Given the description of an element on the screen output the (x, y) to click on. 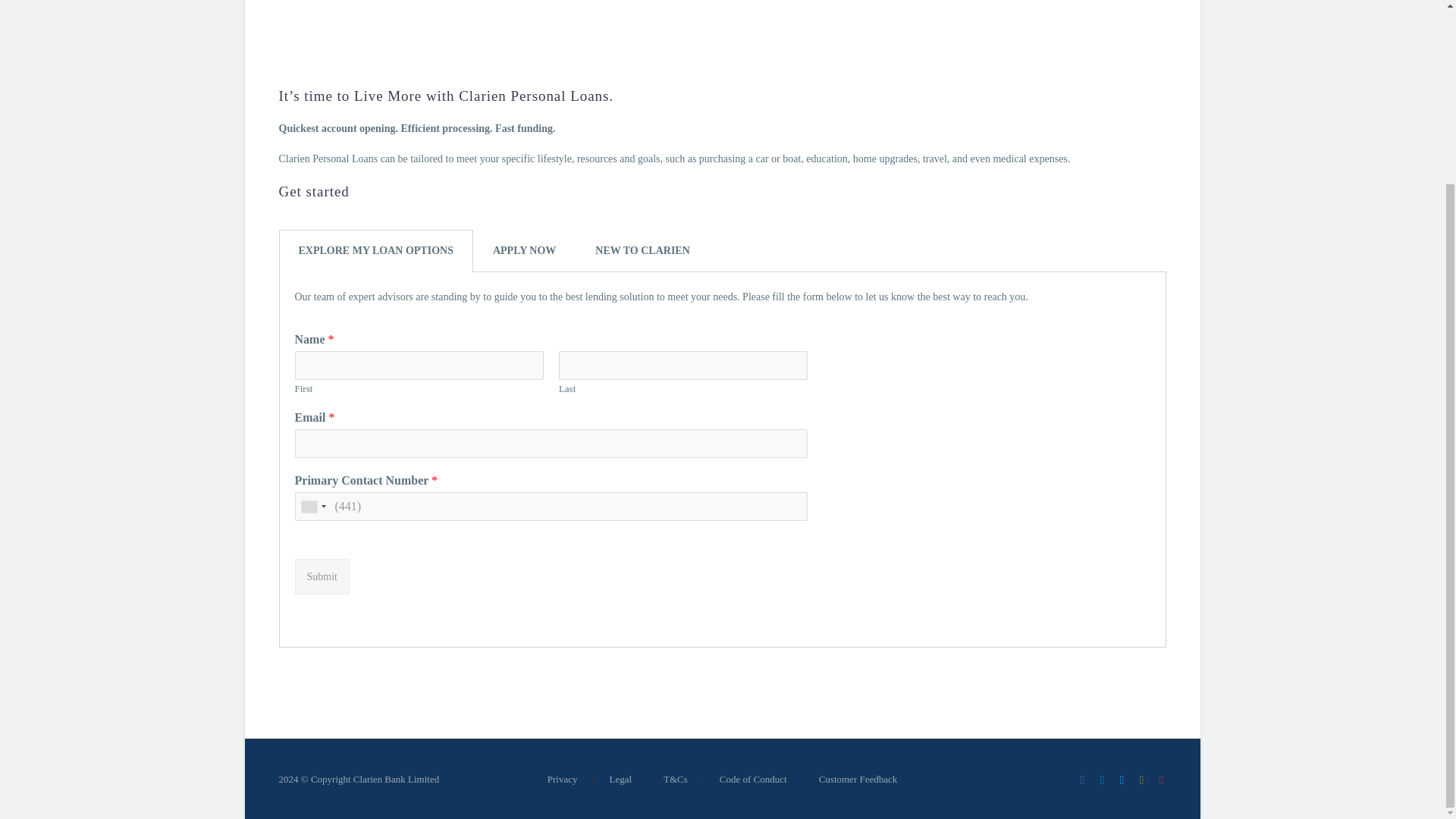
Instagram (1141, 779)
Twitter (1122, 779)
Submit (321, 576)
Facebook (1083, 779)
YouTube (1161, 779)
LinkedIn (1102, 779)
